Given the description of an element on the screen output the (x, y) to click on. 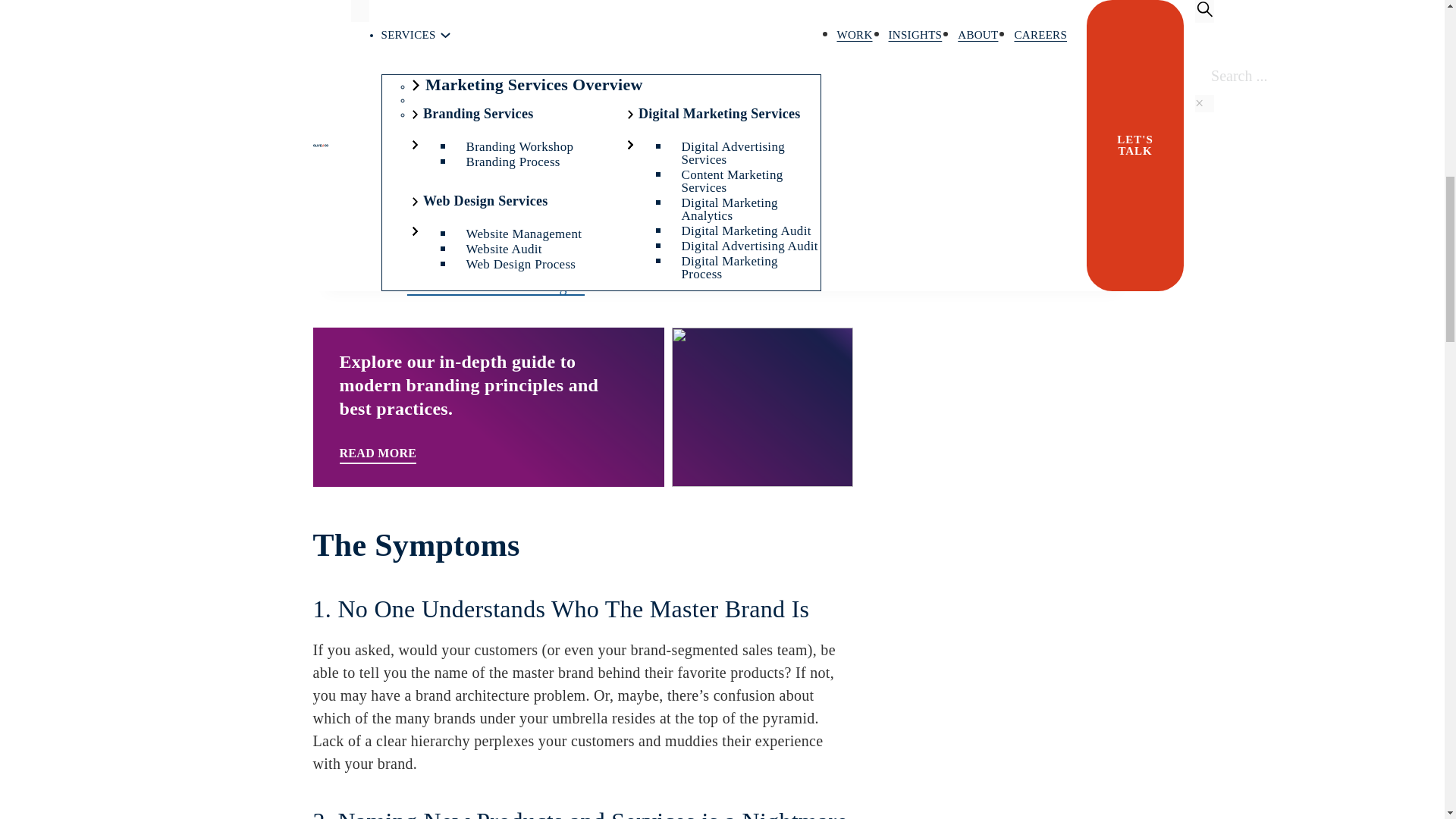
clipboard-1 (952, 64)
brand architecture strategies (496, 285)
kindle-2 (952, 12)
READ MORE (377, 454)
